Given the description of an element on the screen output the (x, y) to click on. 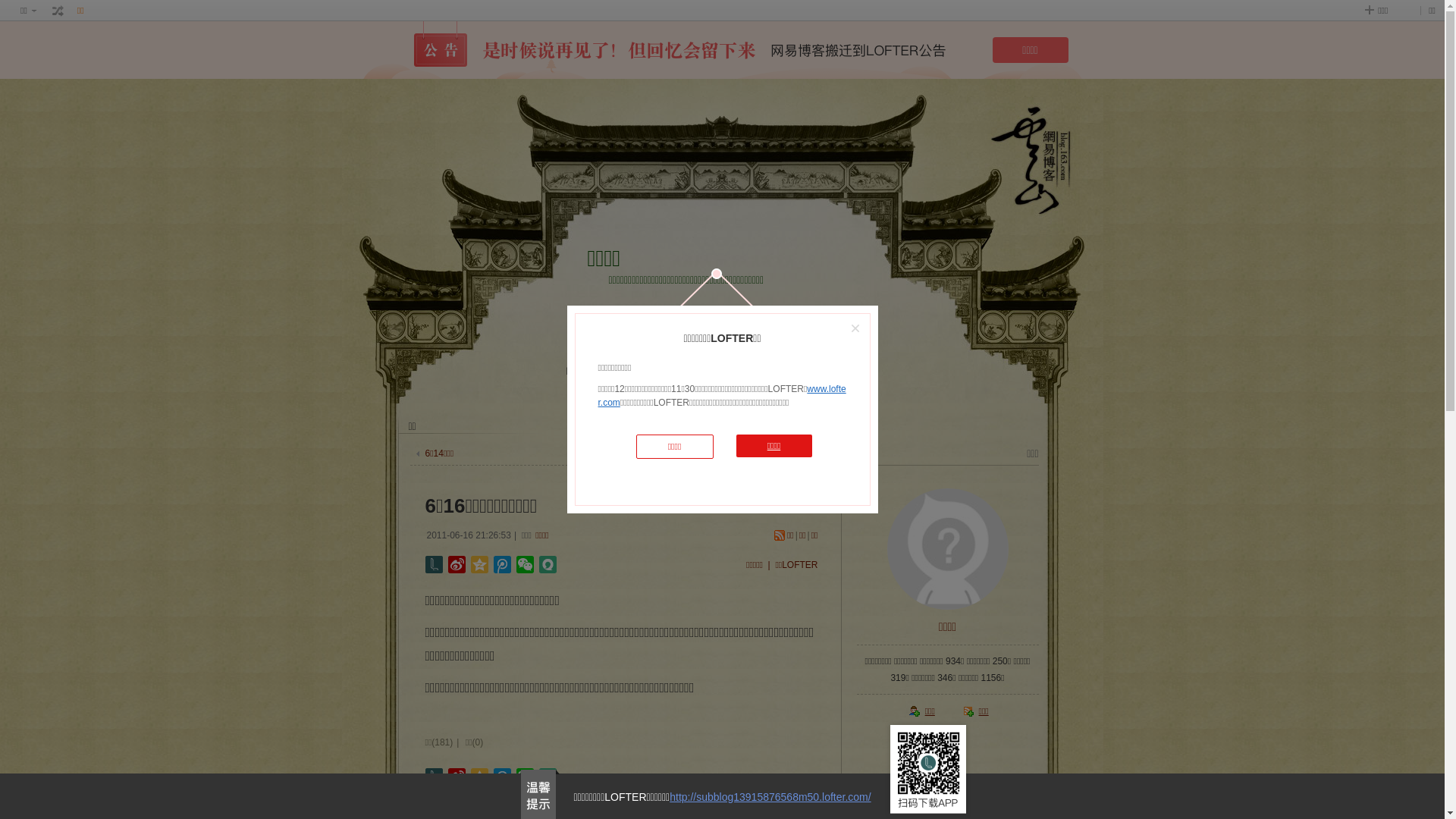
  Element type: text (58, 10)
www.lofter.com Element type: text (721, 395)
http://subblog13915876568m50.lofter.com/ Element type: text (769, 796)
LOFTER Element type: text (665, 373)
